Given the description of an element on the screen output the (x, y) to click on. 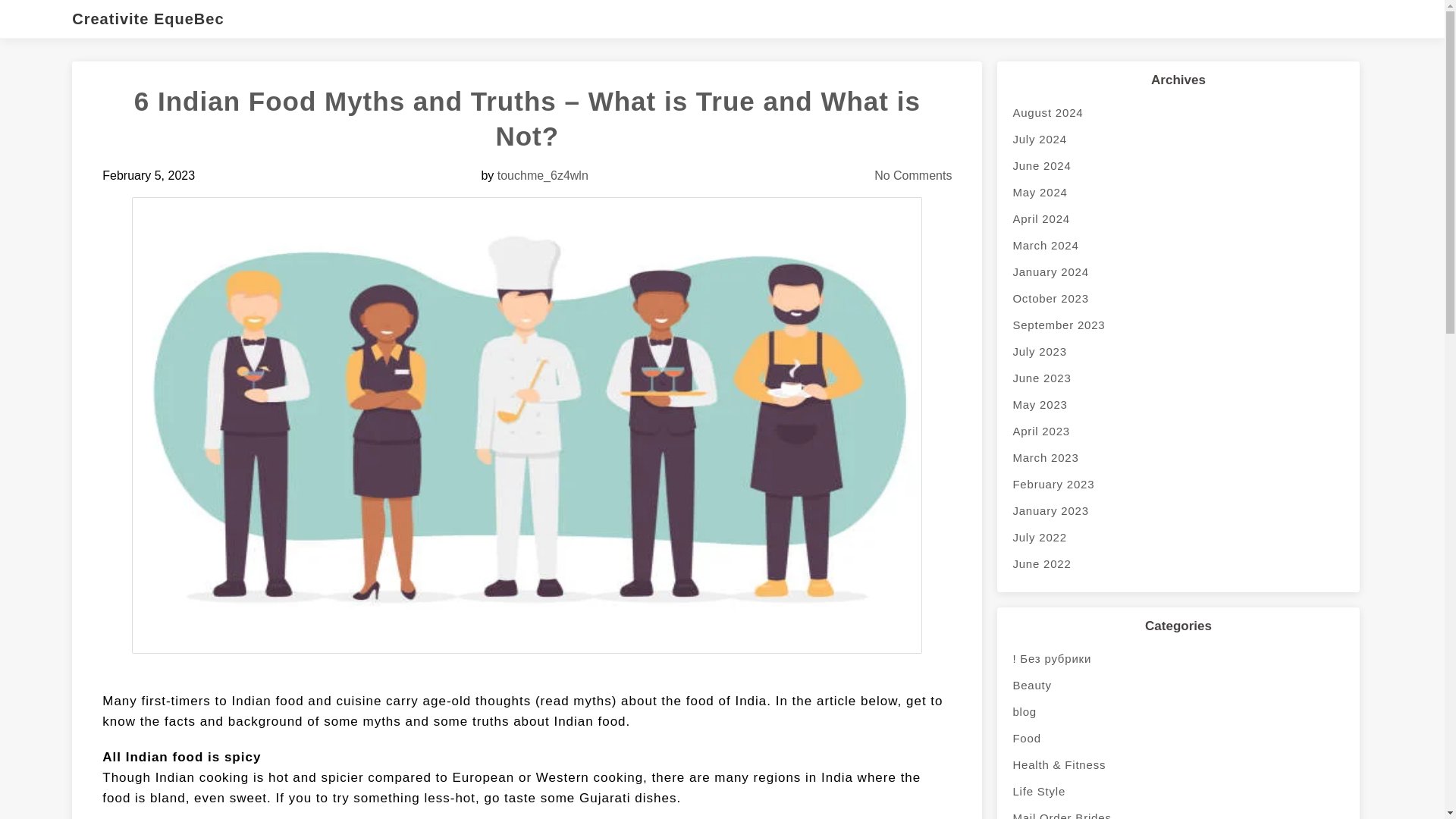
No Comments (913, 174)
September 2023 (1177, 325)
Food (1177, 737)
October 2023 (1177, 298)
Mail Order Brides (1177, 811)
March 2024 (1177, 244)
July 2022 (1177, 537)
January 2023 (1177, 510)
July 2023 (1177, 351)
February 2023 (1177, 483)
